Given the description of an element on the screen output the (x, y) to click on. 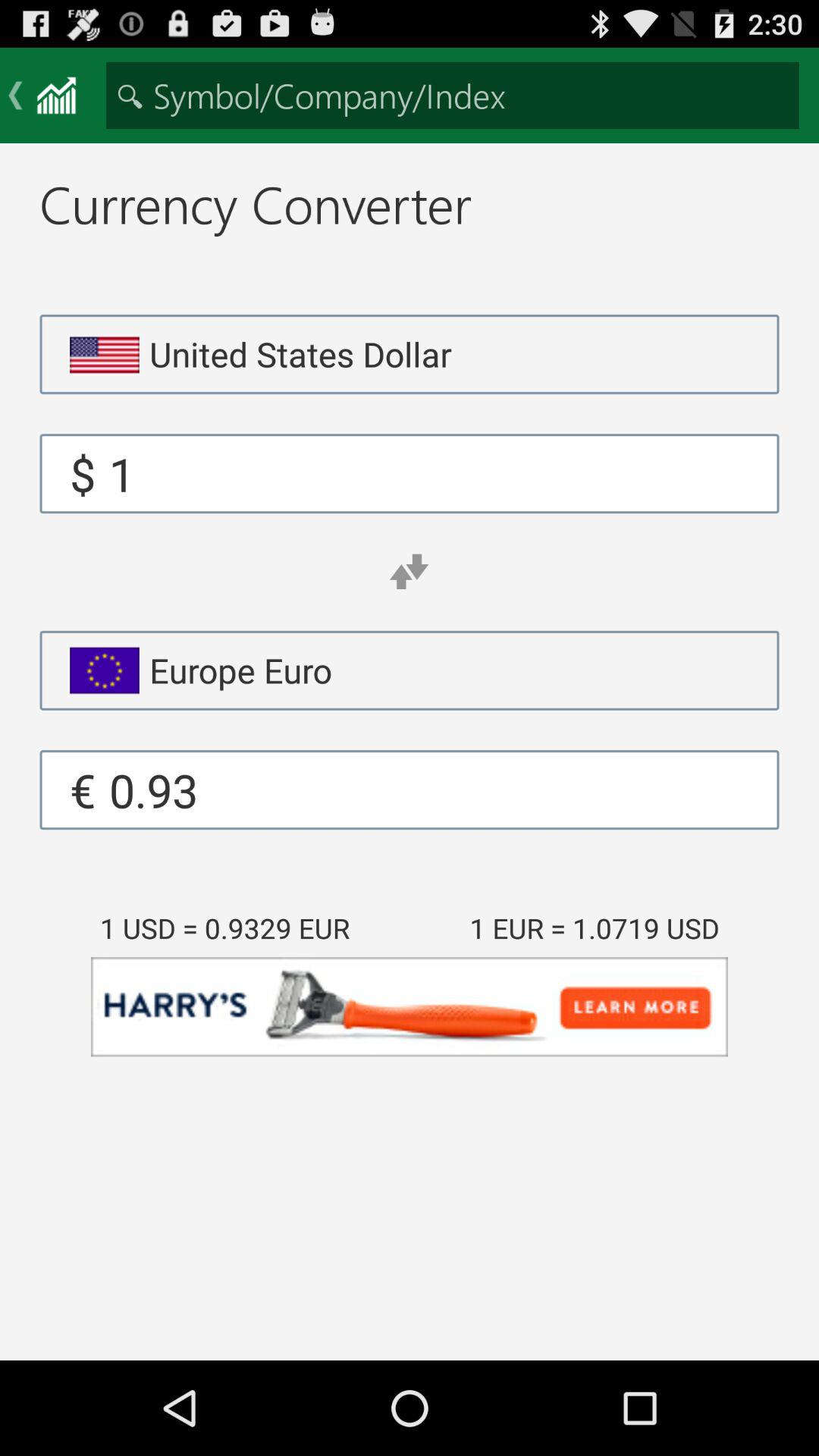
launch item above currency converter (452, 95)
